Given the description of an element on the screen output the (x, y) to click on. 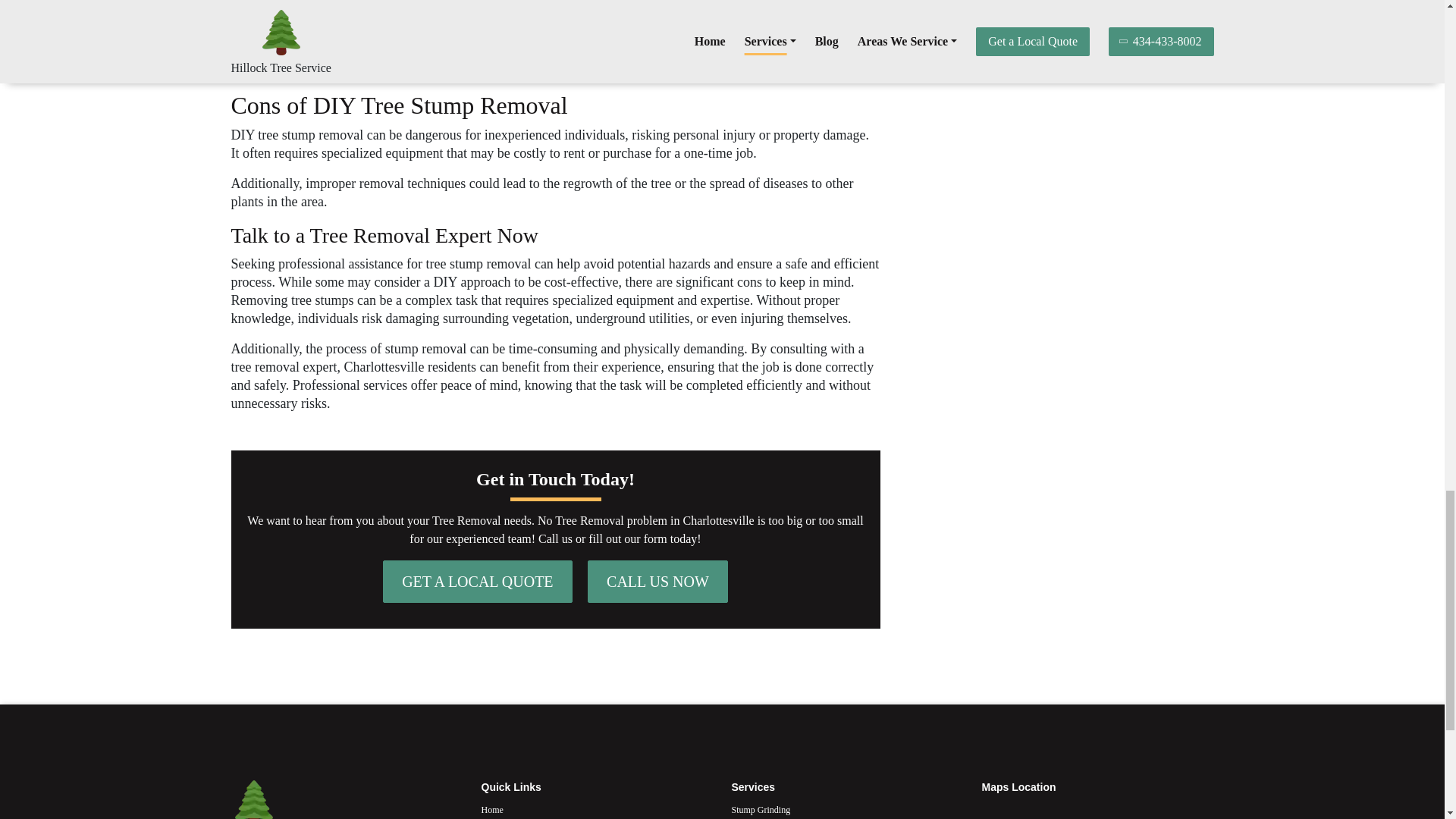
CALL US NOW (658, 581)
GET A LOCAL QUOTE (477, 581)
Home (596, 809)
